Given the description of an element on the screen output the (x, y) to click on. 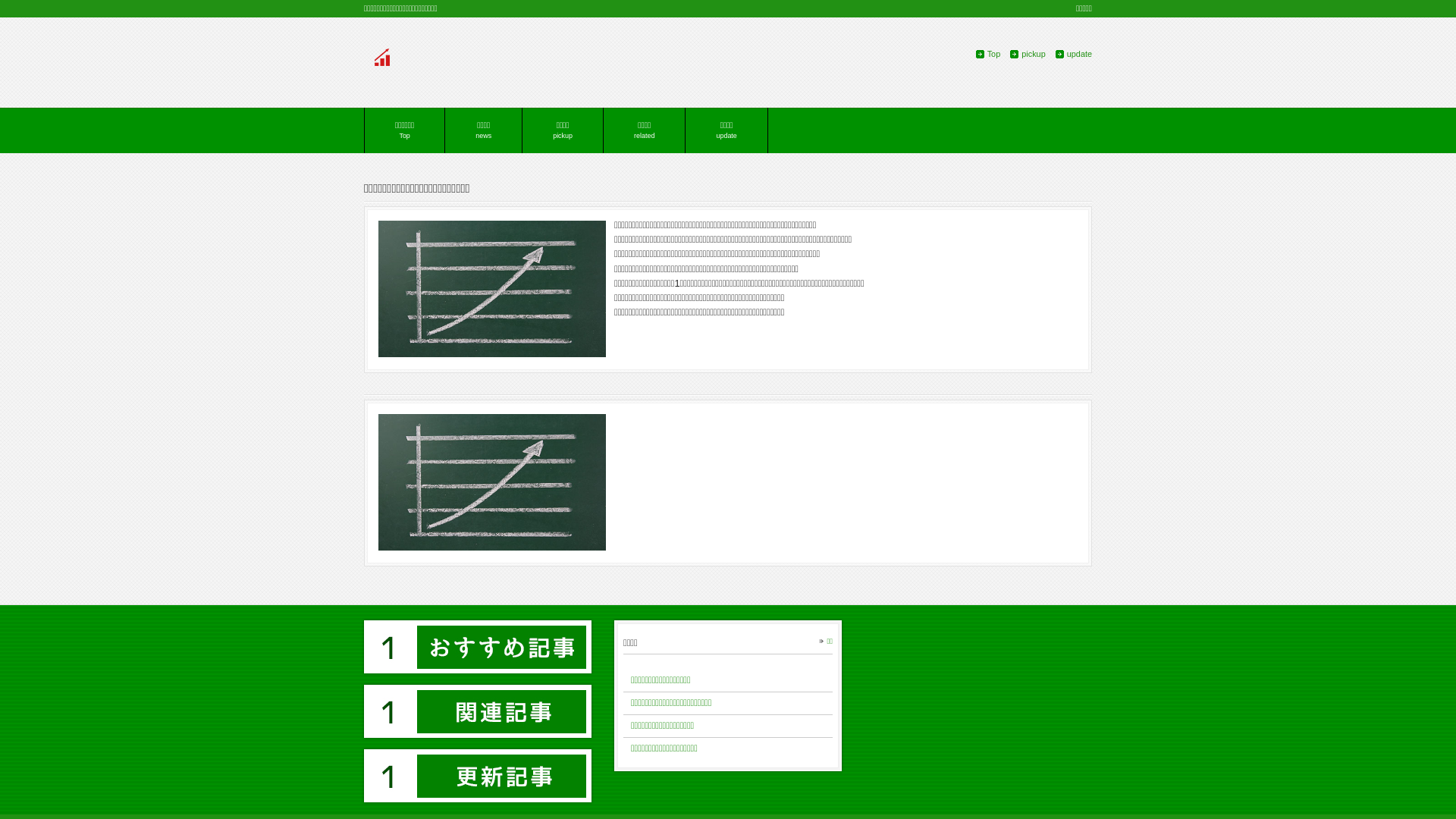
pickup Element type: text (1027, 53)
update Element type: text (1073, 53)
Top Element type: text (988, 53)
